Given the description of an element on the screen output the (x, y) to click on. 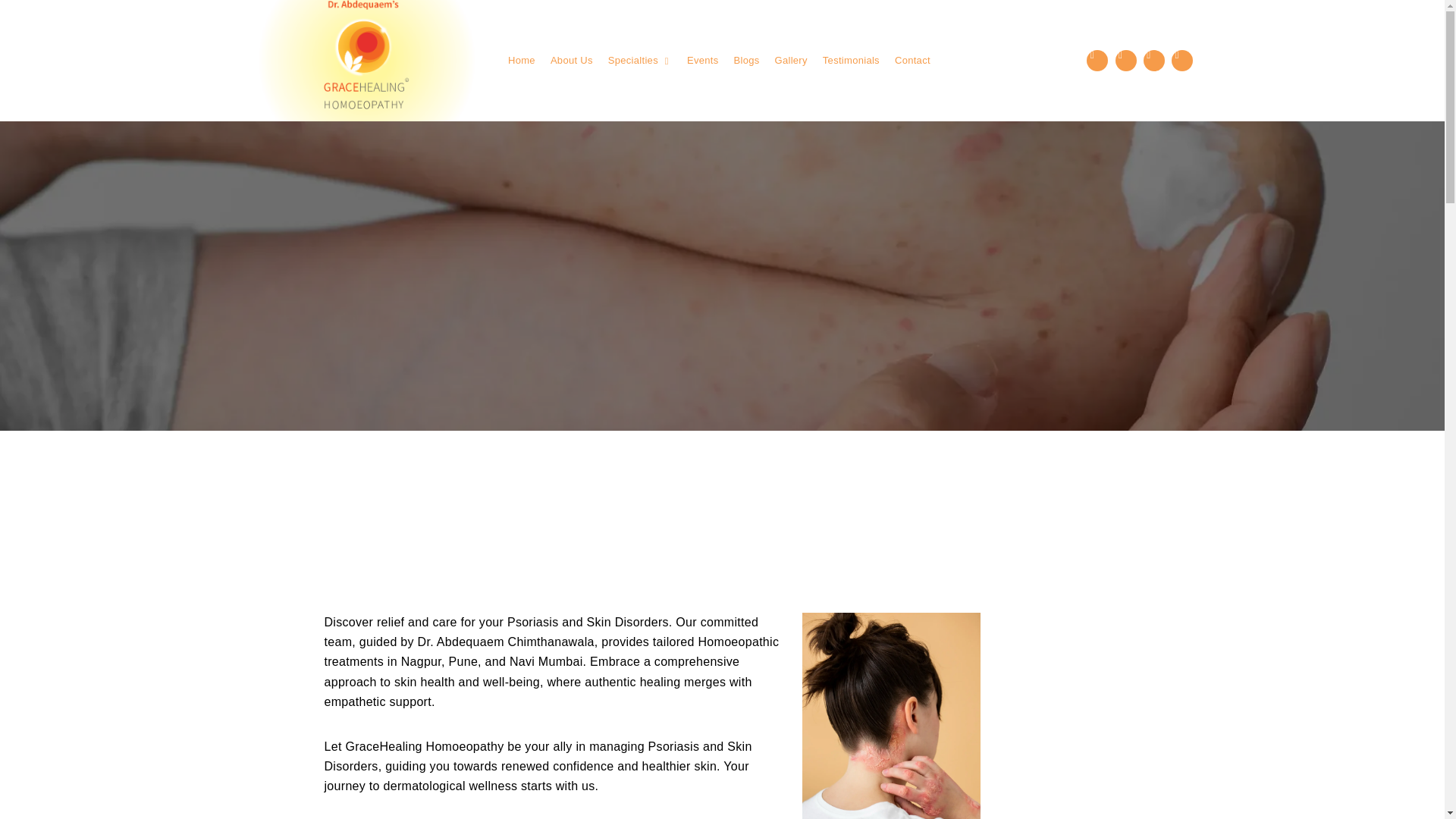
Blogs (745, 60)
Contact (912, 60)
Testimonials (850, 60)
Gallery (791, 60)
Events (703, 60)
About Us (571, 60)
Home (521, 60)
